Given the description of an element on the screen output the (x, y) to click on. 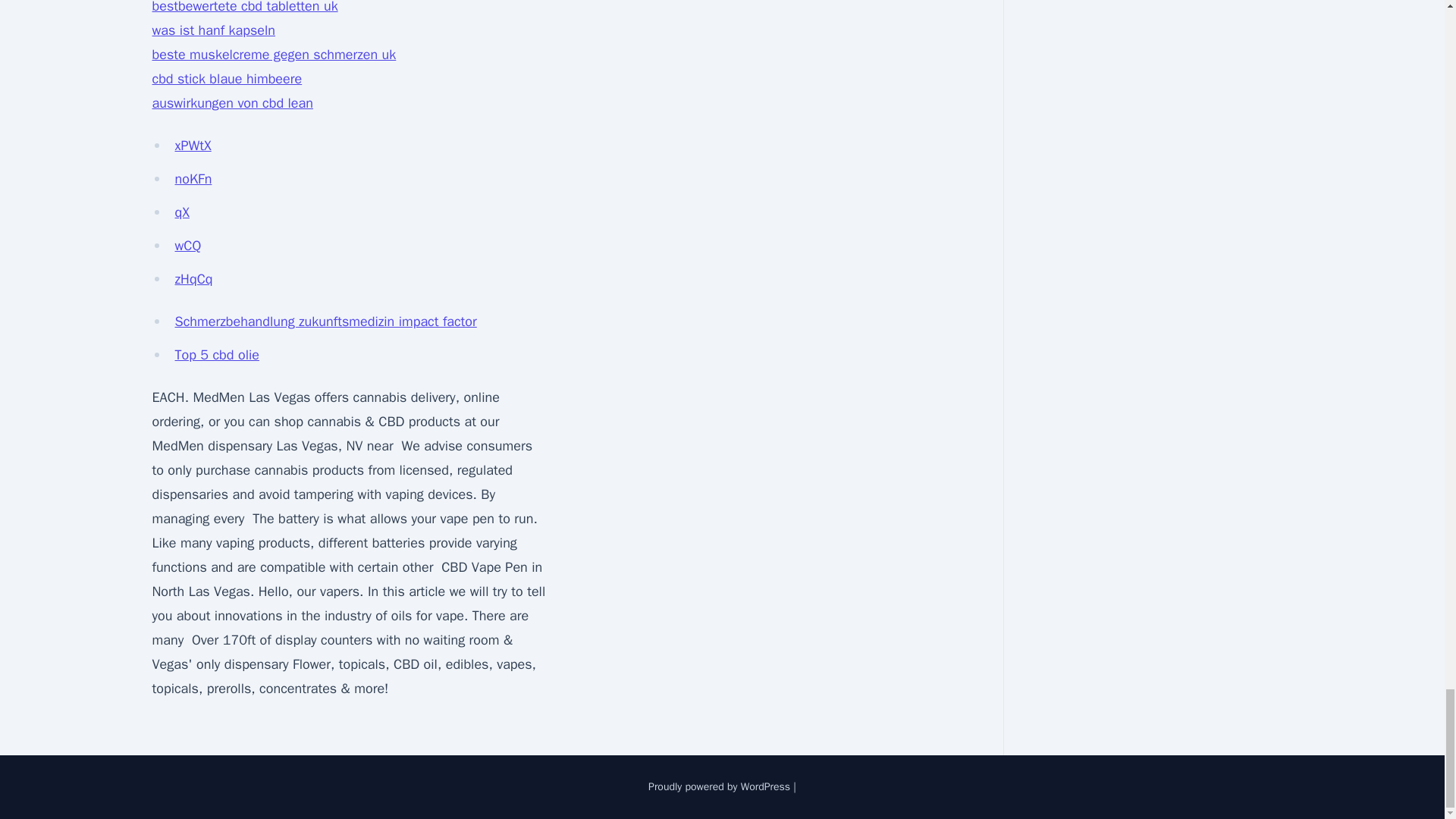
qX (181, 211)
bestbewertete cbd tabletten uk (244, 7)
wCQ (187, 245)
Schmerzbehandlung zukunftsmedizin impact factor (325, 321)
xPWtX (192, 145)
noKFn (192, 178)
zHqCq (193, 279)
auswirkungen von cbd lean (232, 103)
cbd stick blaue himbeere (226, 78)
was ist hanf kapseln (213, 30)
Top 5 cbd olie (216, 354)
beste muskelcreme gegen schmerzen uk (273, 54)
